Given the description of an element on the screen output the (x, y) to click on. 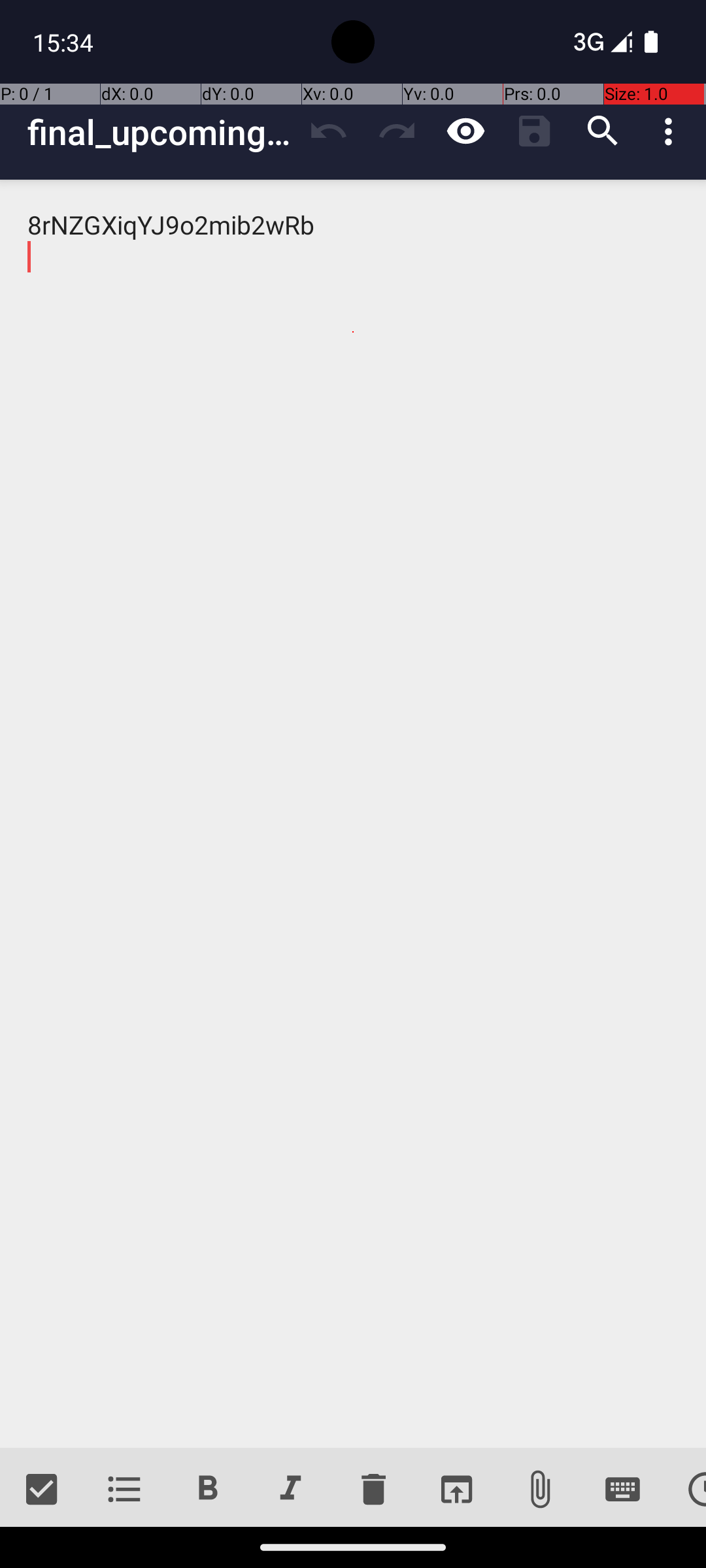
final_upcoming_presentation_outline Element type: android.widget.TextView (160, 131)
8rNZGXiqYJ9o2mib2wRb
 Element type: android.widget.EditText (353, 813)
